Given the description of an element on the screen output the (x, y) to click on. 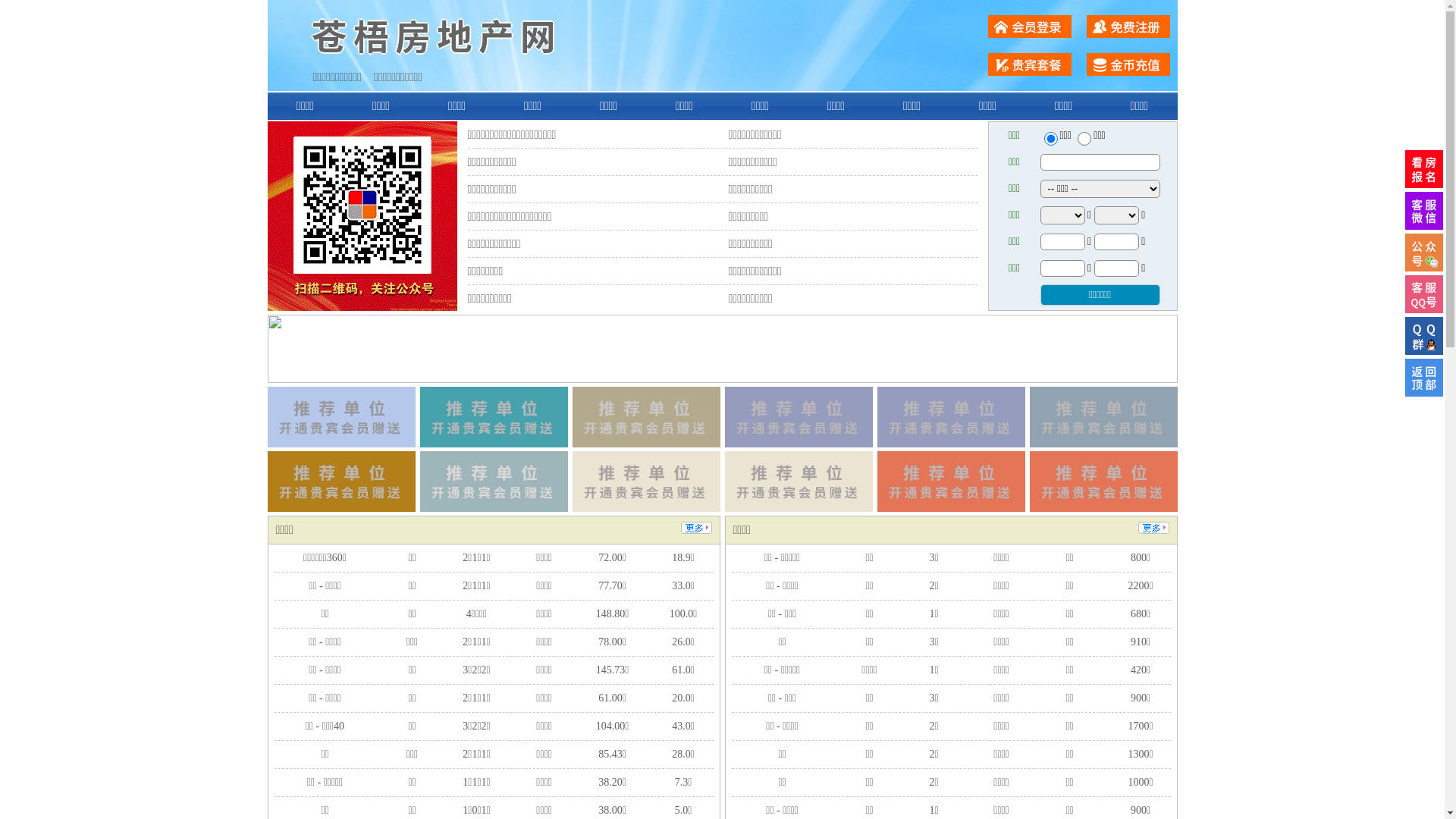
chuzu Element type: text (1084, 138)
ershou Element type: text (1050, 138)
